Given the description of an element on the screen output the (x, y) to click on. 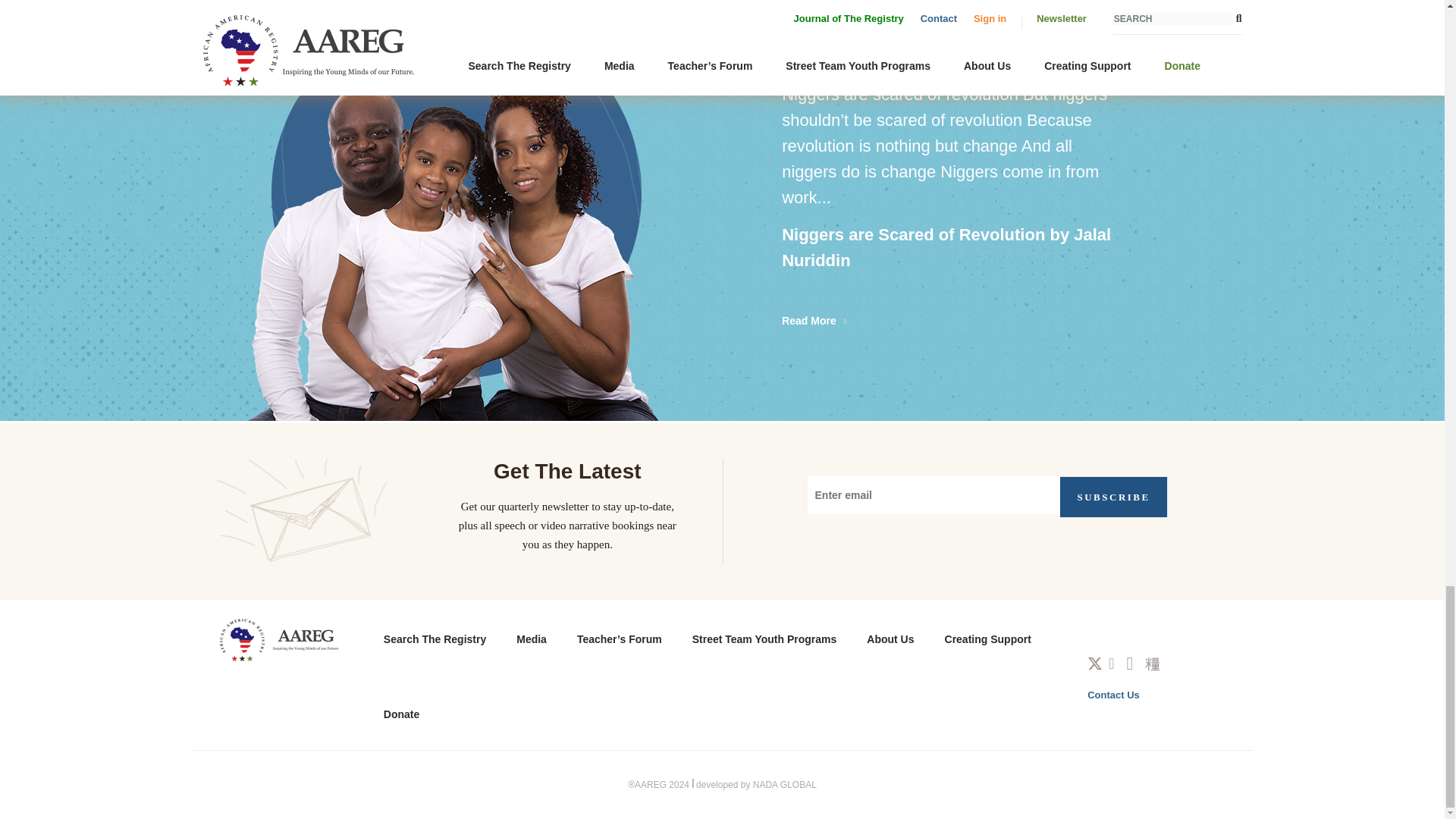
Subscribe (1114, 496)
